Given the description of an element on the screen output the (x, y) to click on. 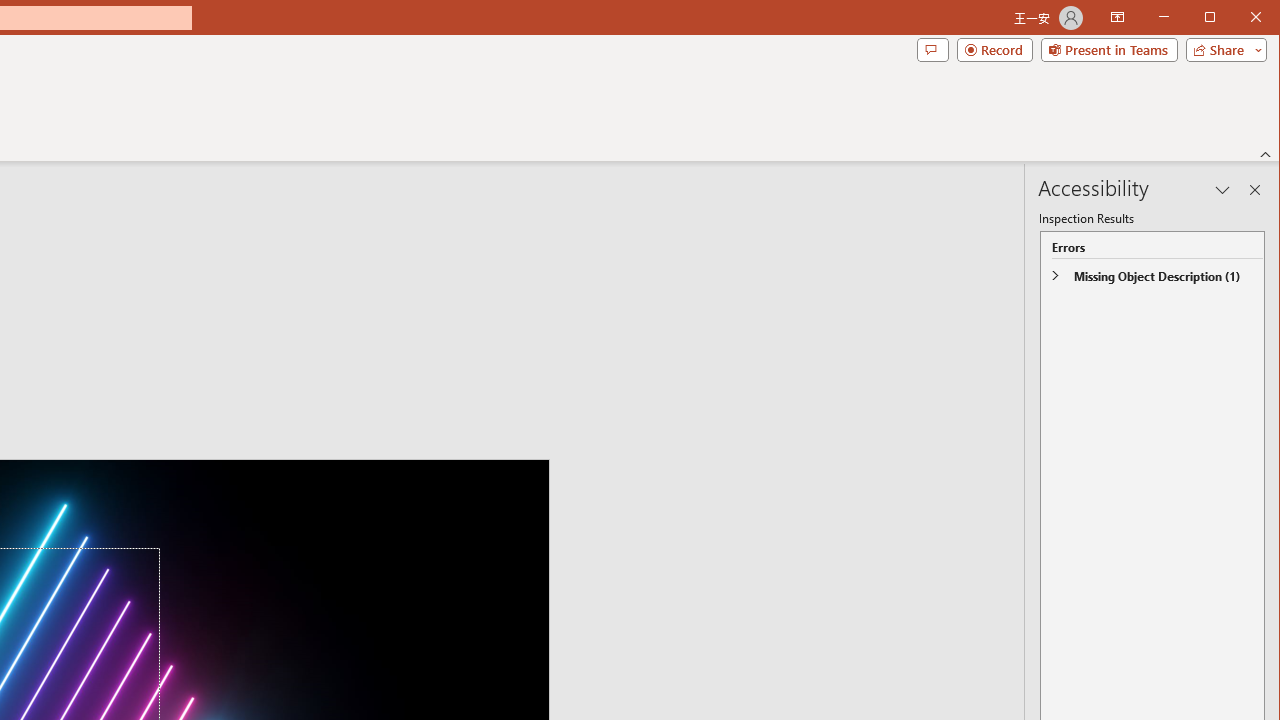
Maximize (1238, 18)
